Given the description of an element on the screen output the (x, y) to click on. 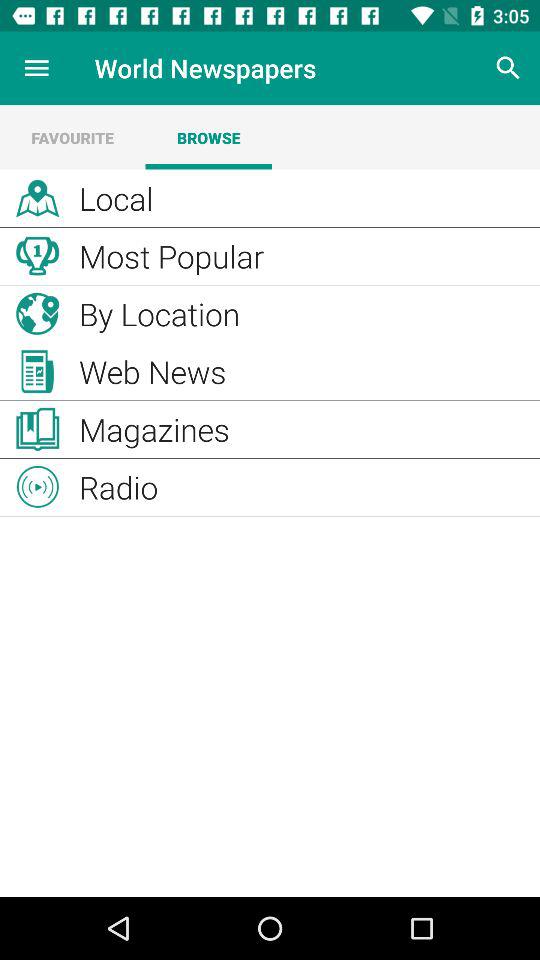
search (508, 67)
